Given the description of an element on the screen output the (x, y) to click on. 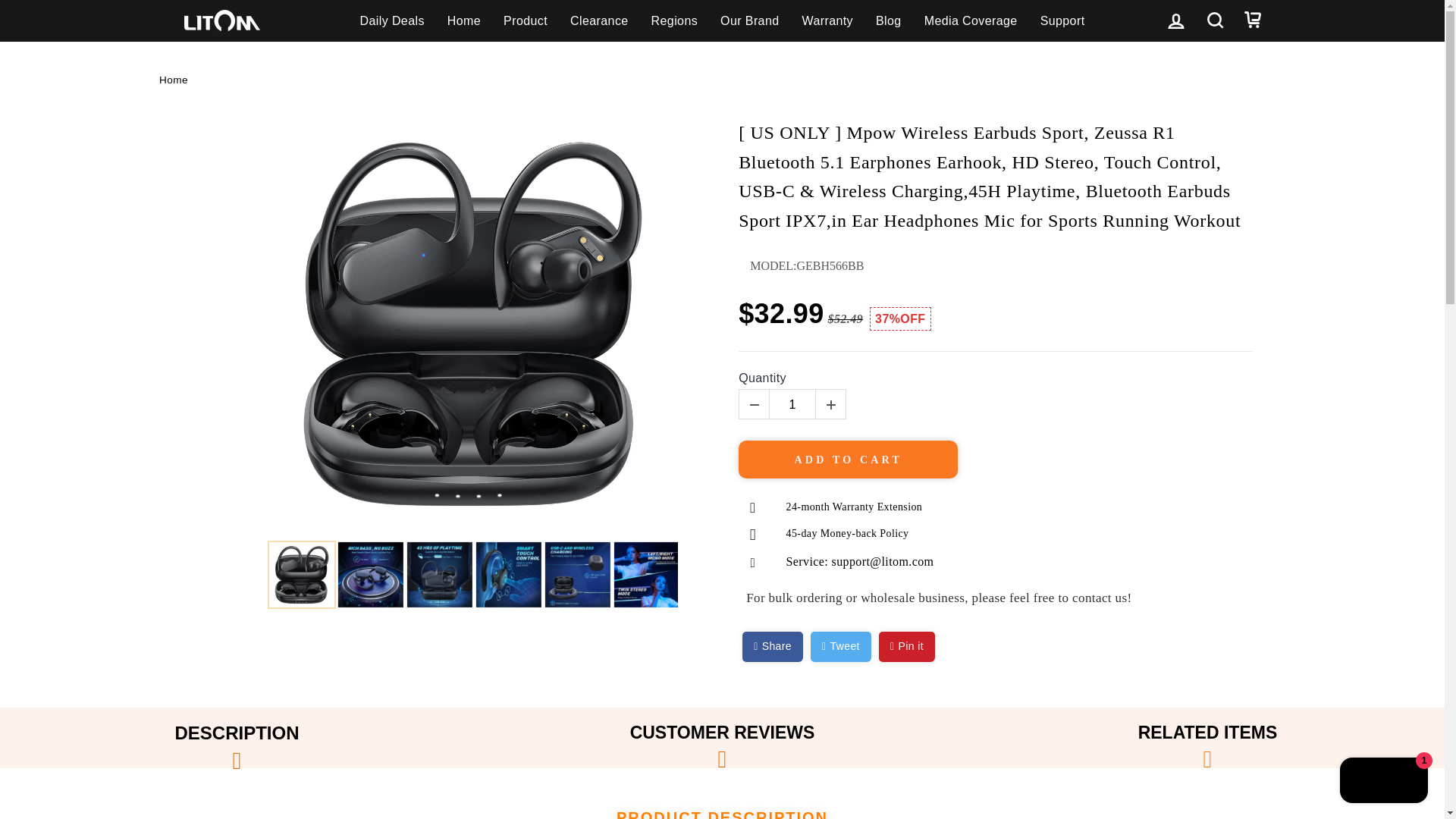
1 (792, 404)
Shopify online store chat (1383, 781)
Back to the frontpage (172, 79)
twitter (840, 646)
facebook (772, 646)
pinterest (906, 646)
